Given the description of an element on the screen output the (x, y) to click on. 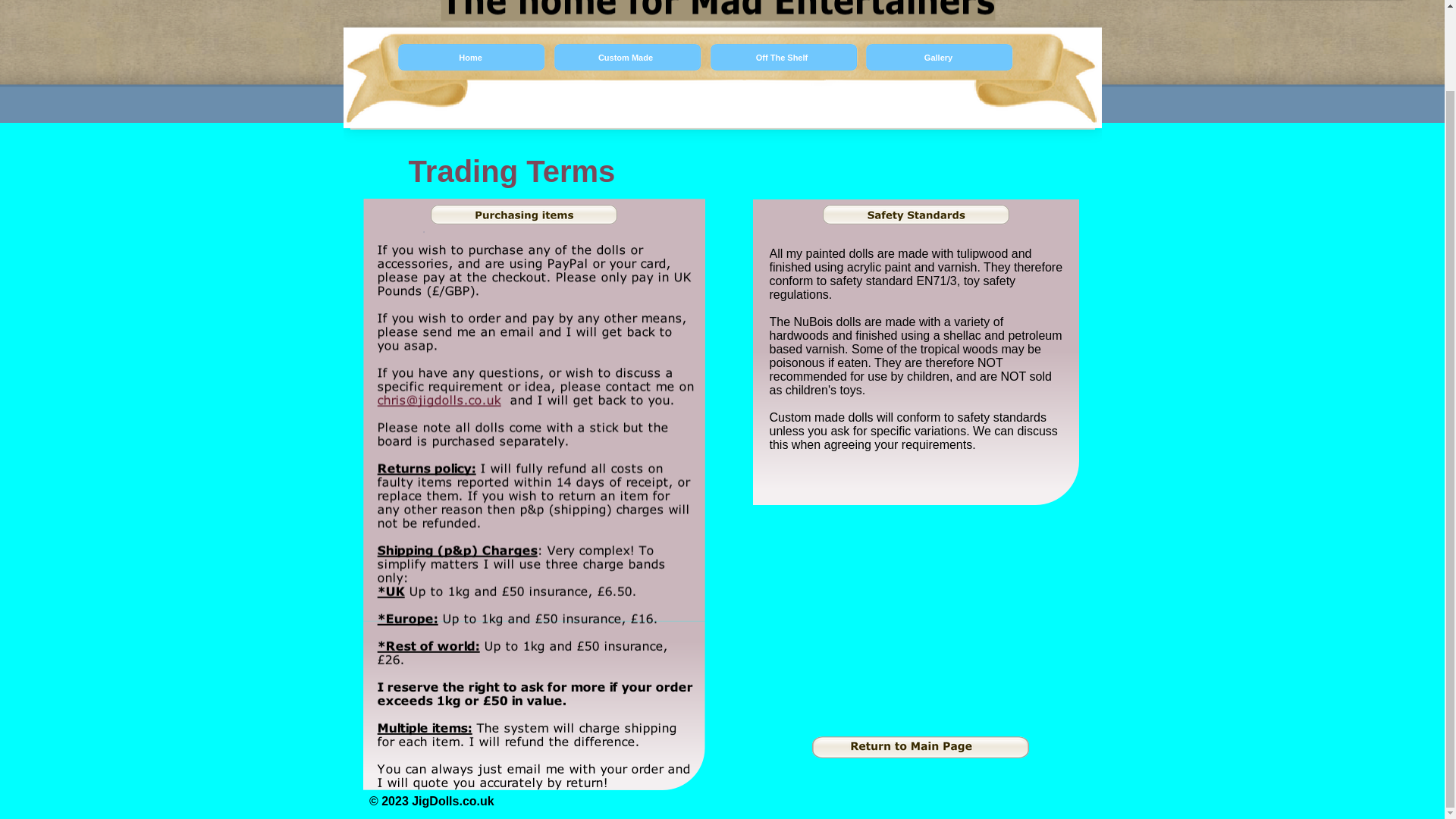
Off The Shelf  (784, 57)
Home (471, 57)
Gallery (938, 57)
Custom Made  (627, 57)
